Given the description of an element on the screen output the (x, y) to click on. 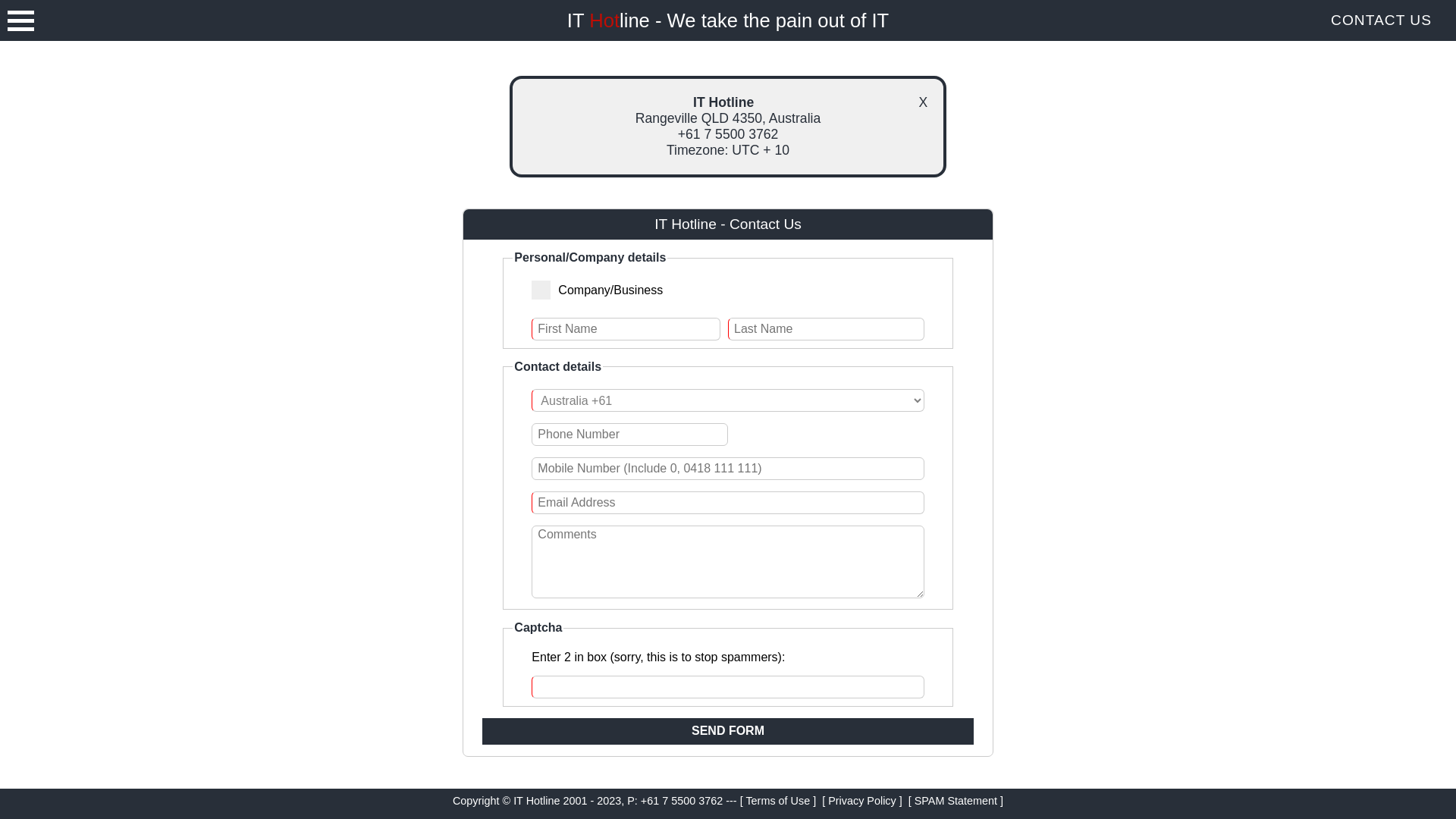
[ Privacy Policy ] Element type: text (862, 800)
CONTACT US Element type: text (1380, 20)
[ Terms of Use ] Element type: text (778, 800)
Send Form Element type: text (727, 731)
[ SPAM Statement ] Element type: text (955, 800)
on Element type: text (670, 290)
X Element type: text (922, 102)
